Given the description of an element on the screen output the (x, y) to click on. 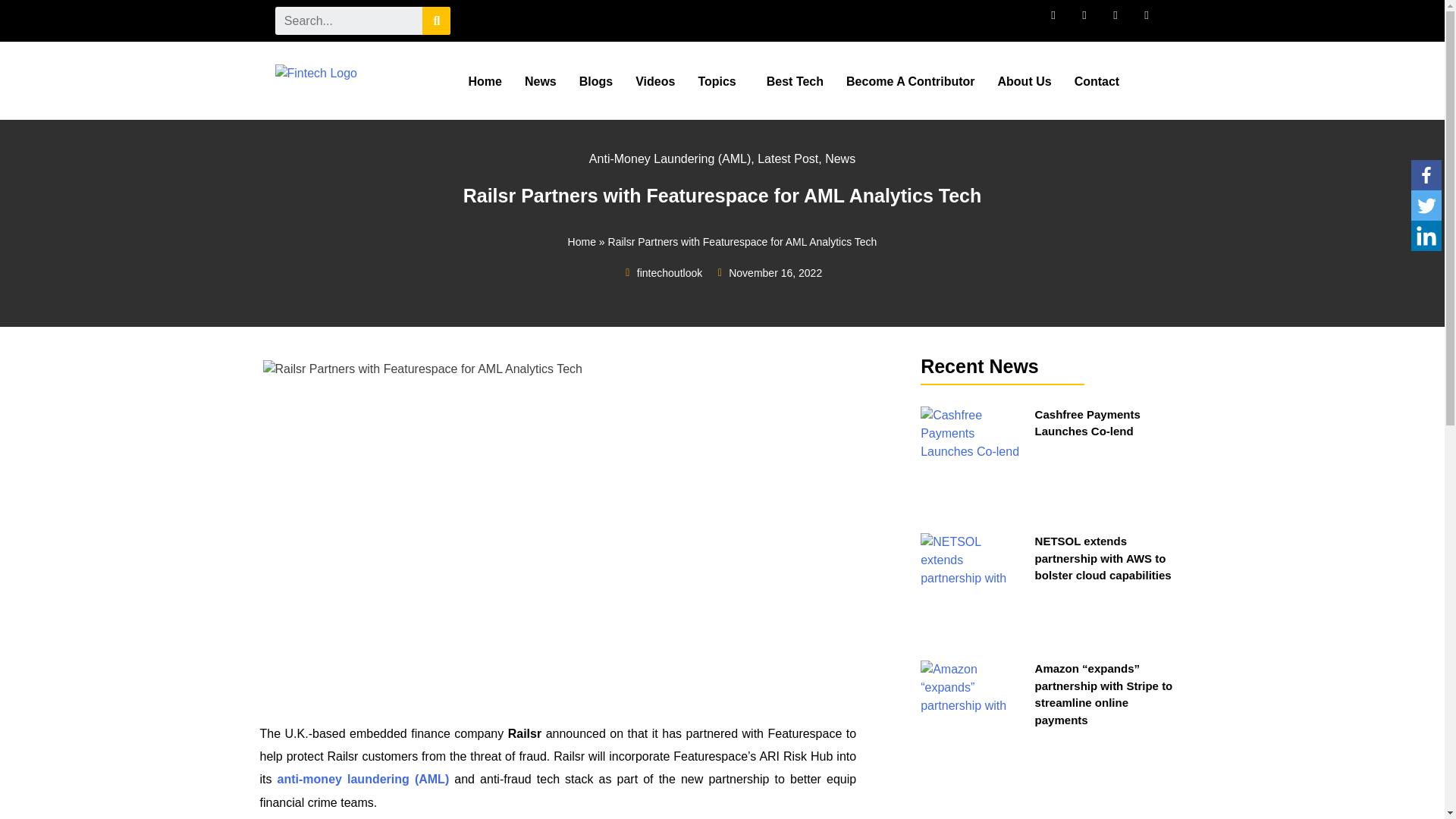
Home (484, 81)
Facebook (1425, 174)
Videos (654, 81)
Latest Post (787, 158)
Become A Contributor (909, 81)
Best Tech (794, 81)
Search (435, 20)
Linkedin (1425, 235)
News (540, 81)
Twitter (1425, 205)
